Given the description of an element on the screen output the (x, y) to click on. 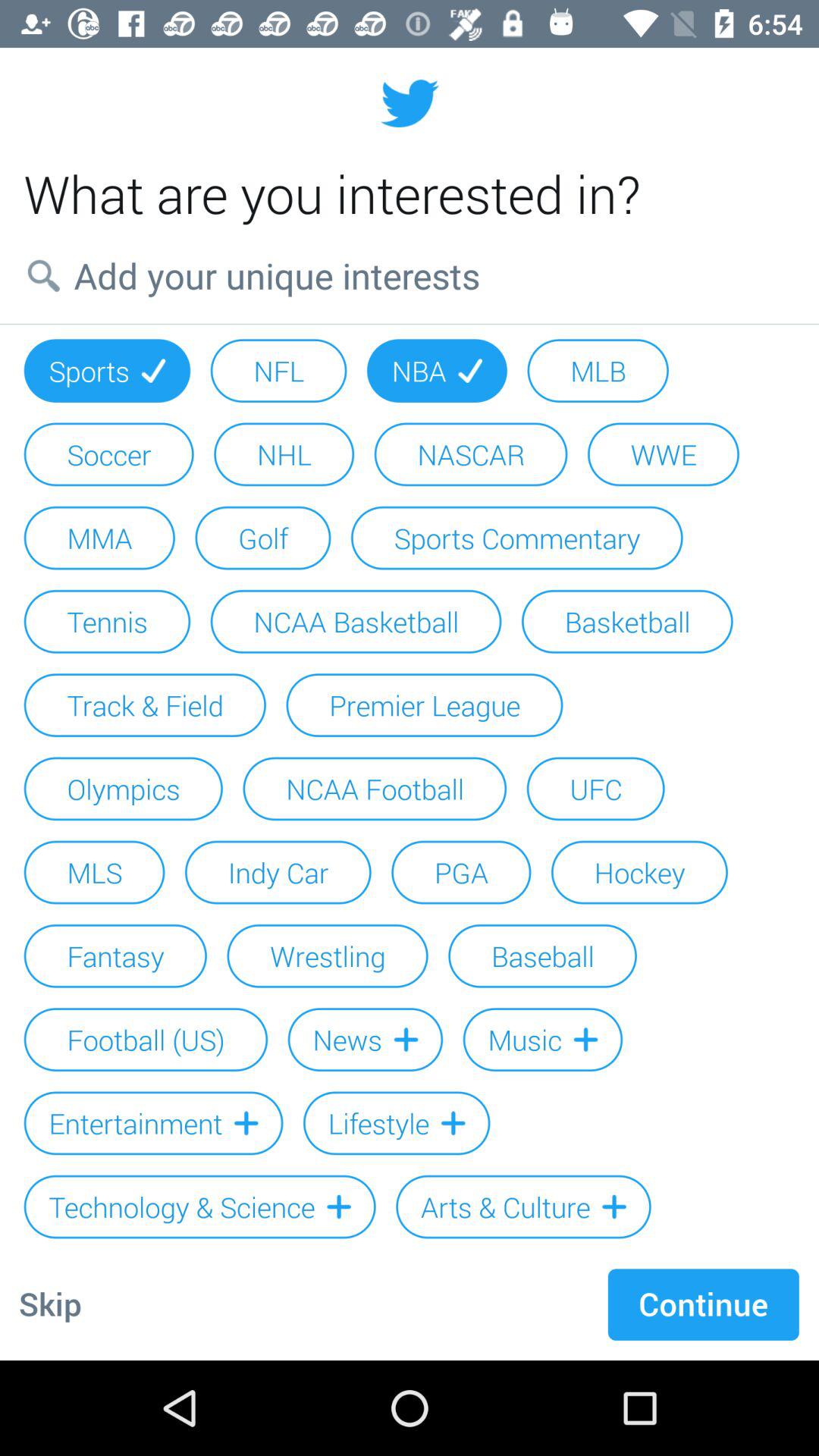
launch icon below the mls (115, 955)
